Given the description of an element on the screen output the (x, y) to click on. 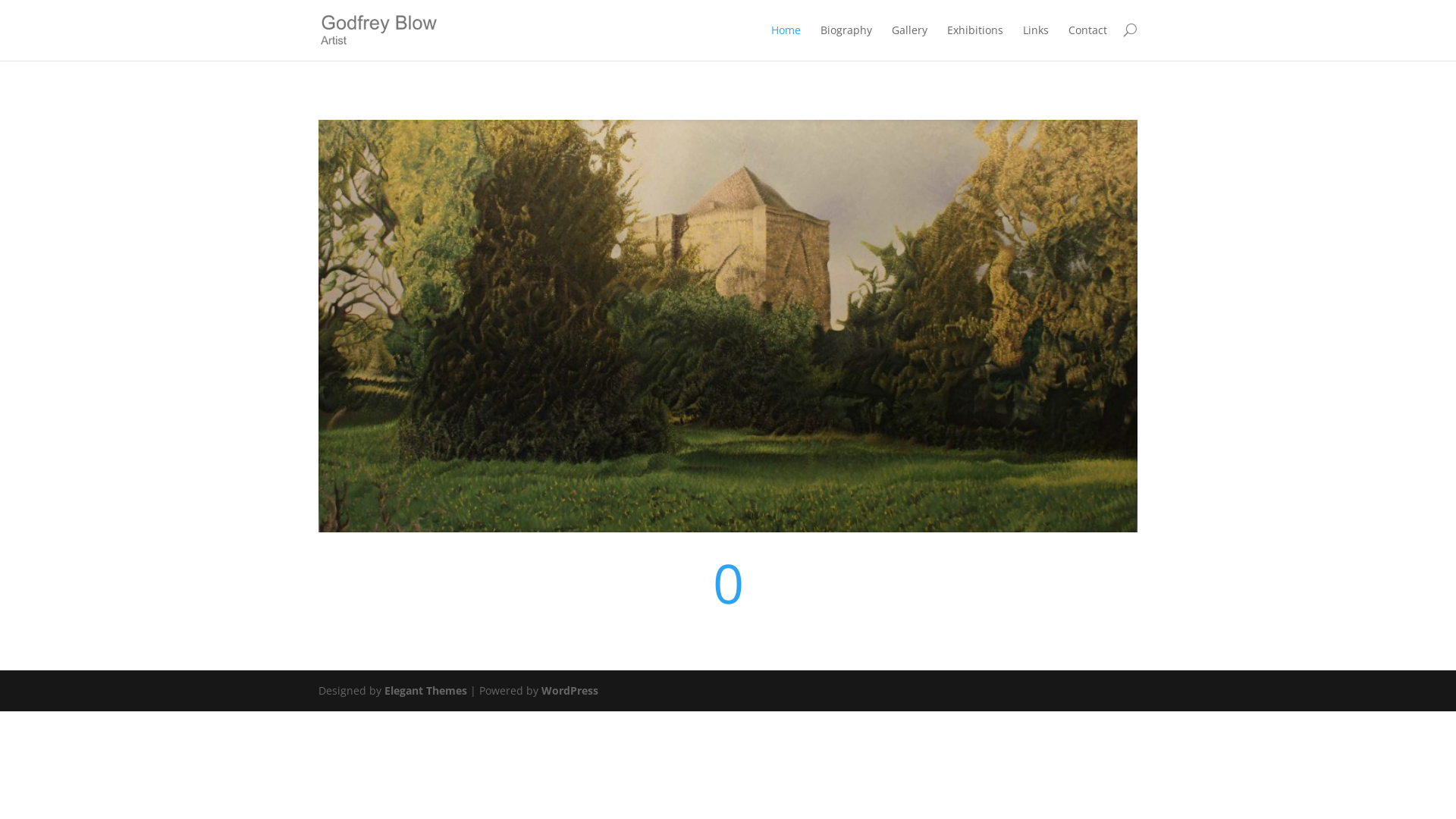
Home Element type: text (785, 40)
Elegant Themes Element type: text (425, 690)
Contact Element type: text (1087, 40)
Exhibitions Element type: text (975, 40)
Gallery Element type: text (909, 40)
WordPress Element type: text (569, 690)
Biography Element type: text (846, 40)
Links Element type: text (1035, 40)
